Given the description of an element on the screen output the (x, y) to click on. 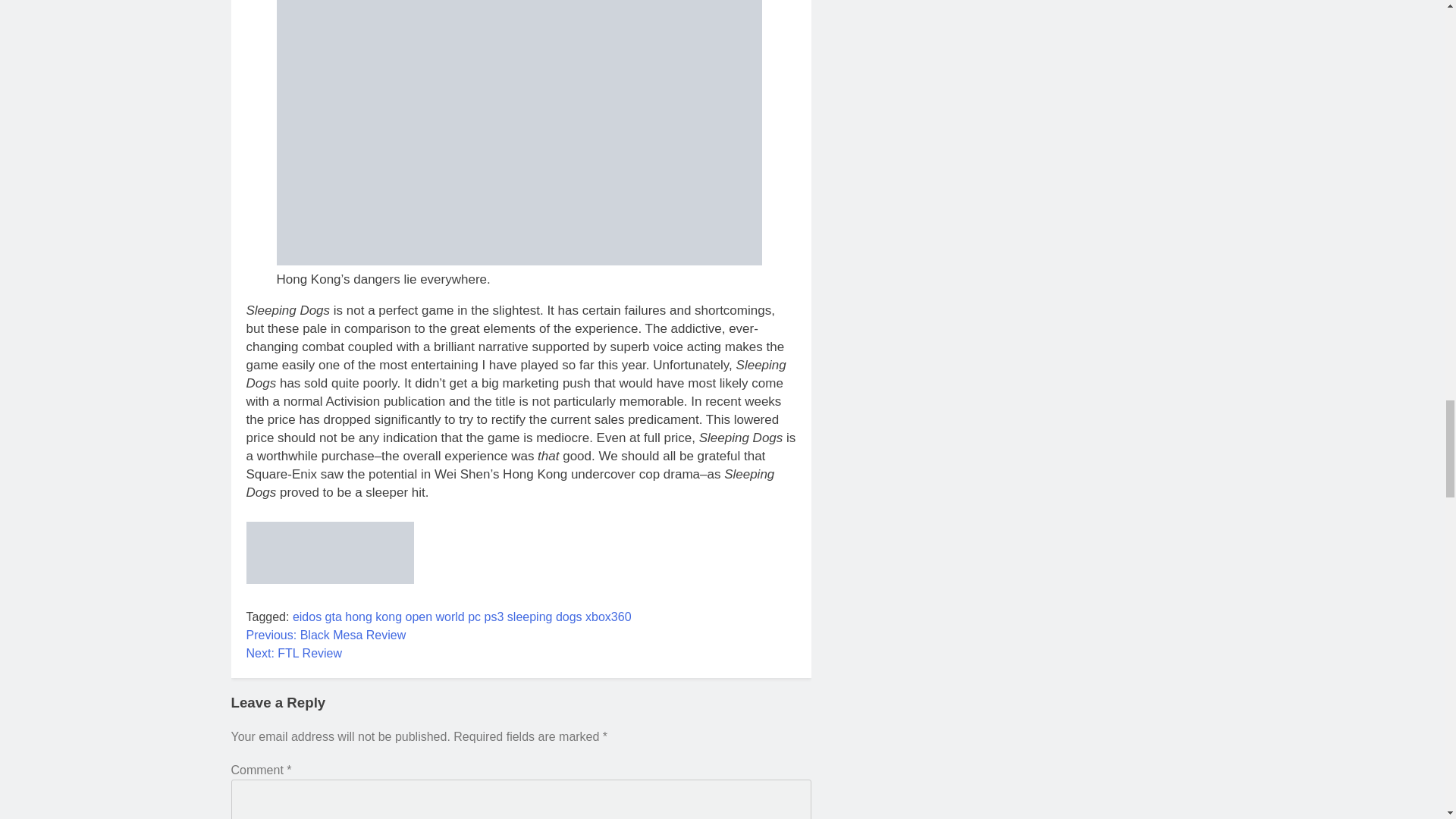
open world (434, 616)
sleeping dogs (544, 616)
eidos (306, 616)
hong kong (373, 616)
gta (333, 616)
pc (473, 616)
ps3 (493, 616)
